Given the description of an element on the screen output the (x, y) to click on. 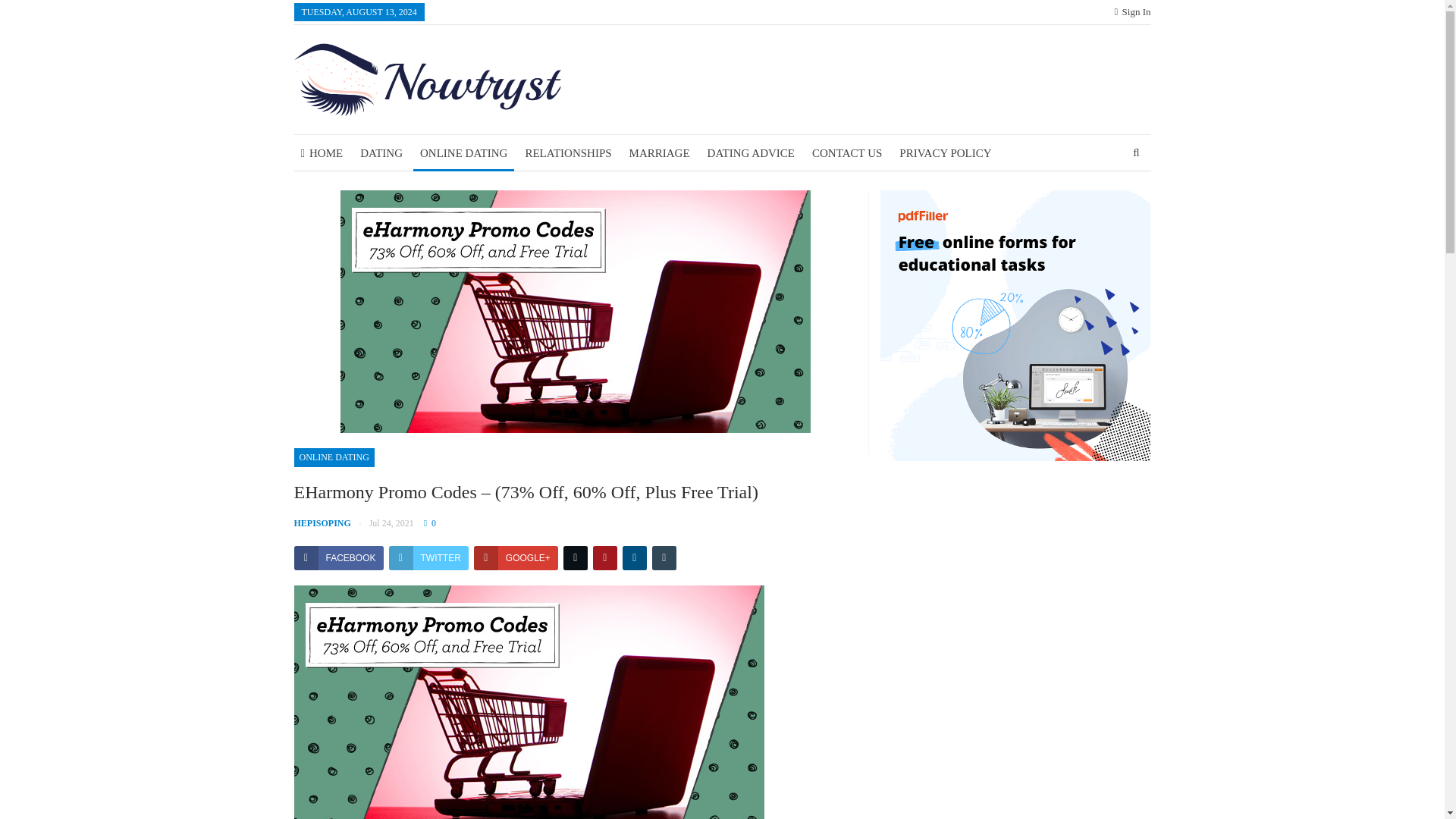
PRIVACY POLICY (944, 153)
Browse Author Articles (331, 522)
HEPISOPING (331, 522)
ONLINE DATING (334, 456)
HOME (322, 153)
Saturday, July 24, 2021, 7:01 pm (391, 522)
TWITTER (428, 558)
DATING (381, 153)
FACEBOOK (339, 558)
DATING ADVICE (751, 153)
